Given the description of an element on the screen output the (x, y) to click on. 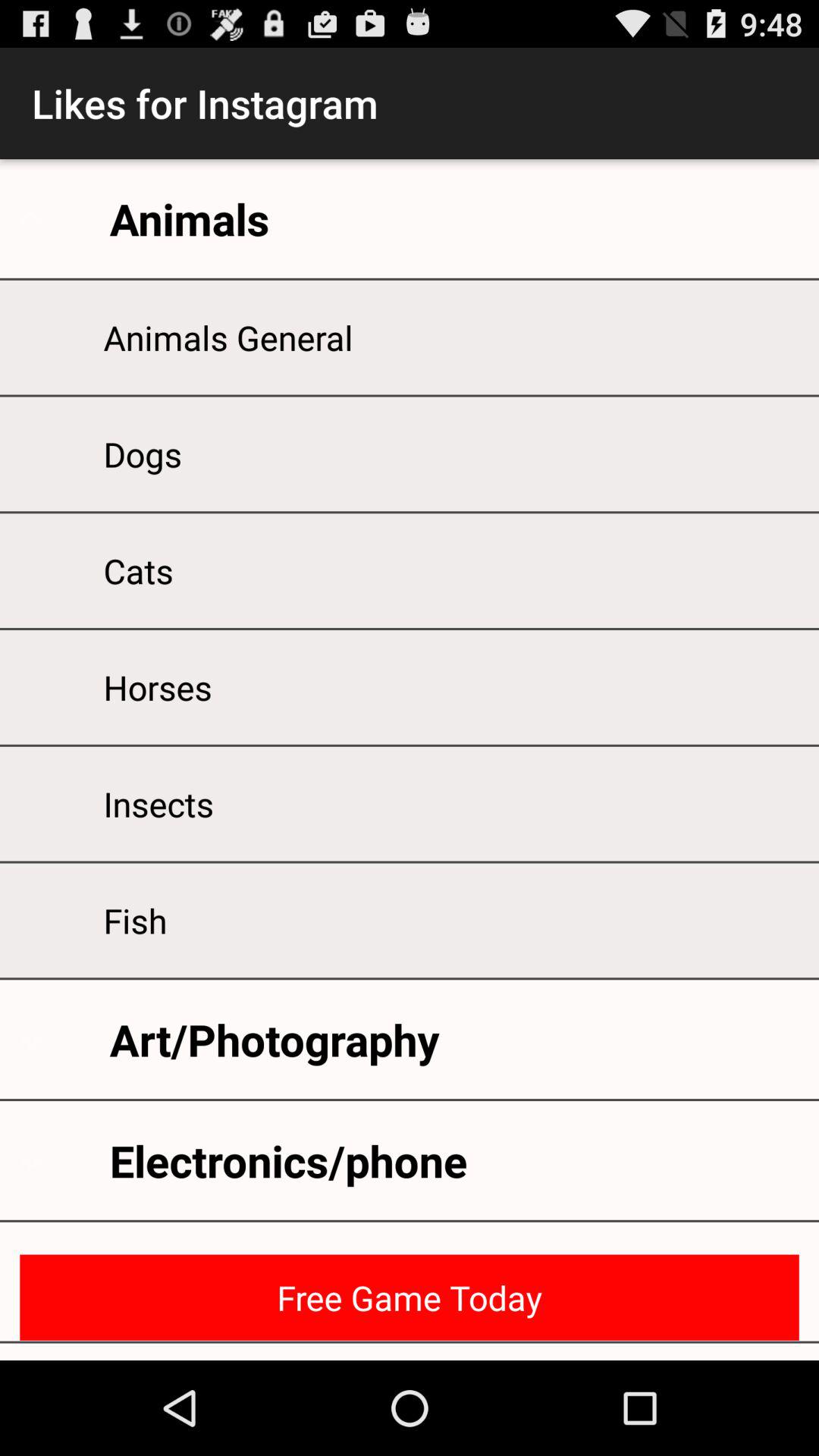
swipe to the free game today app (409, 1297)
